Given the description of an element on the screen output the (x, y) to click on. 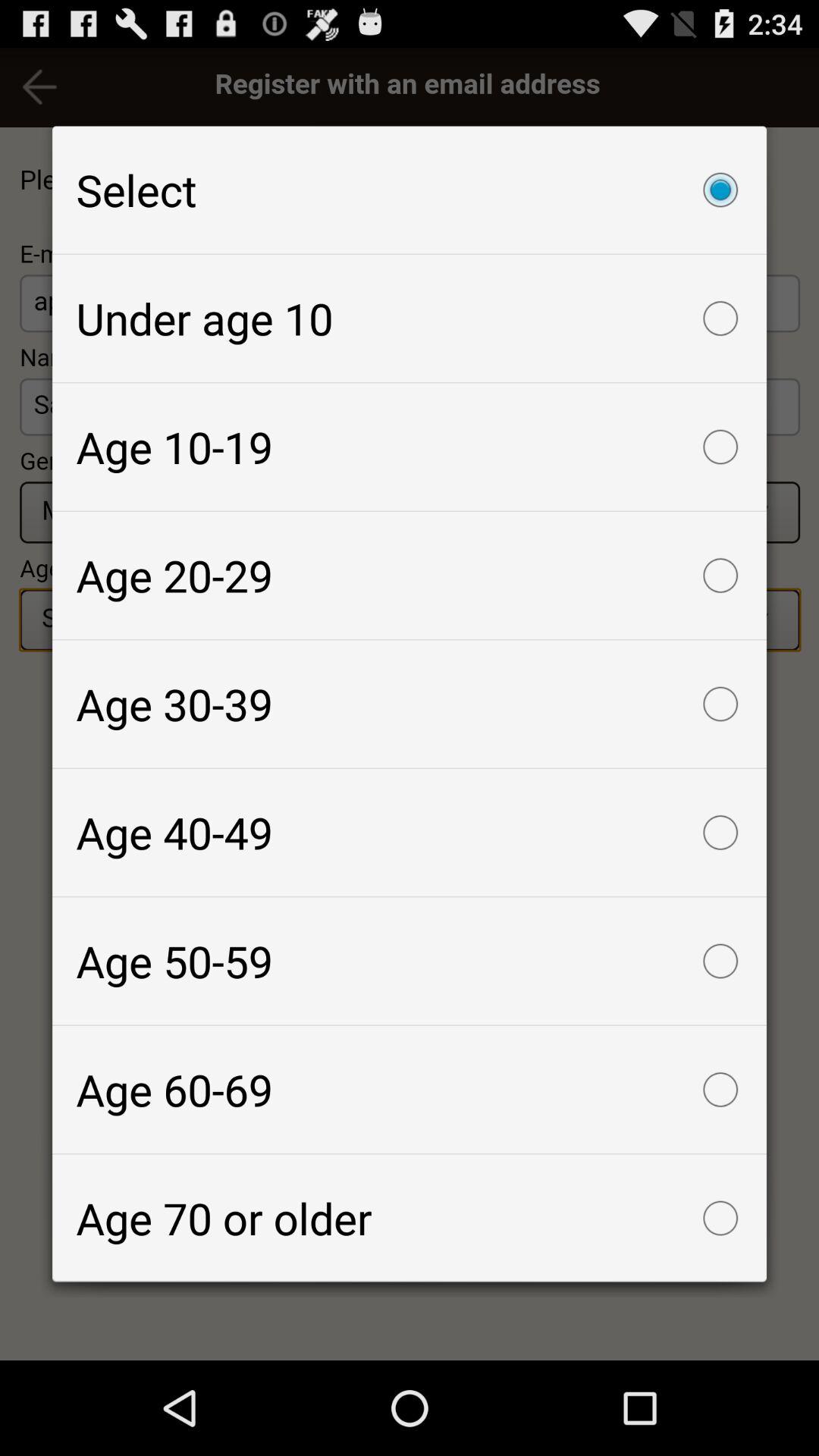
open the select checkbox (409, 189)
